Given the description of an element on the screen output the (x, y) to click on. 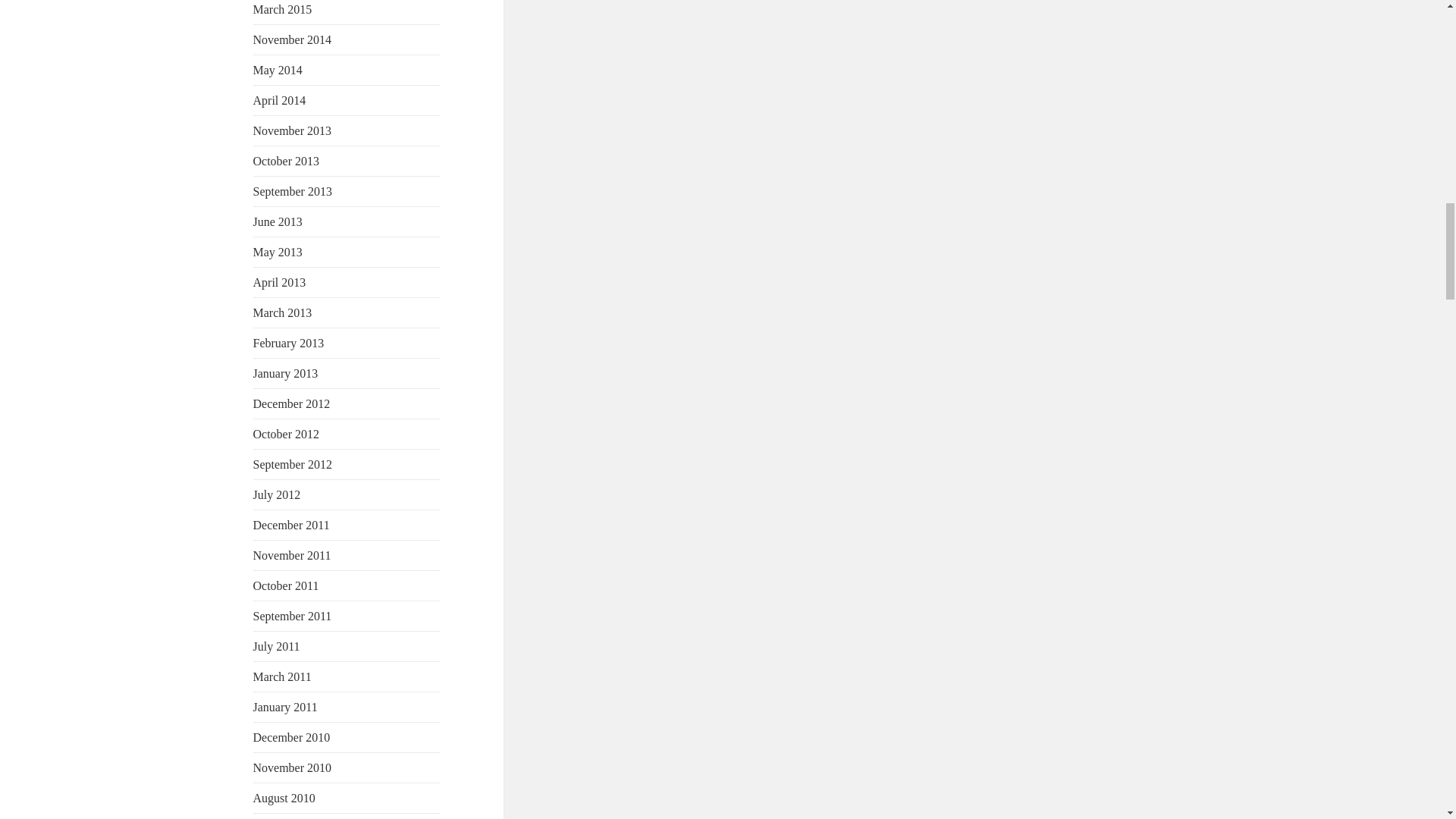
March 2015 (283, 9)
November 2014 (292, 39)
